Given the description of an element on the screen output the (x, y) to click on. 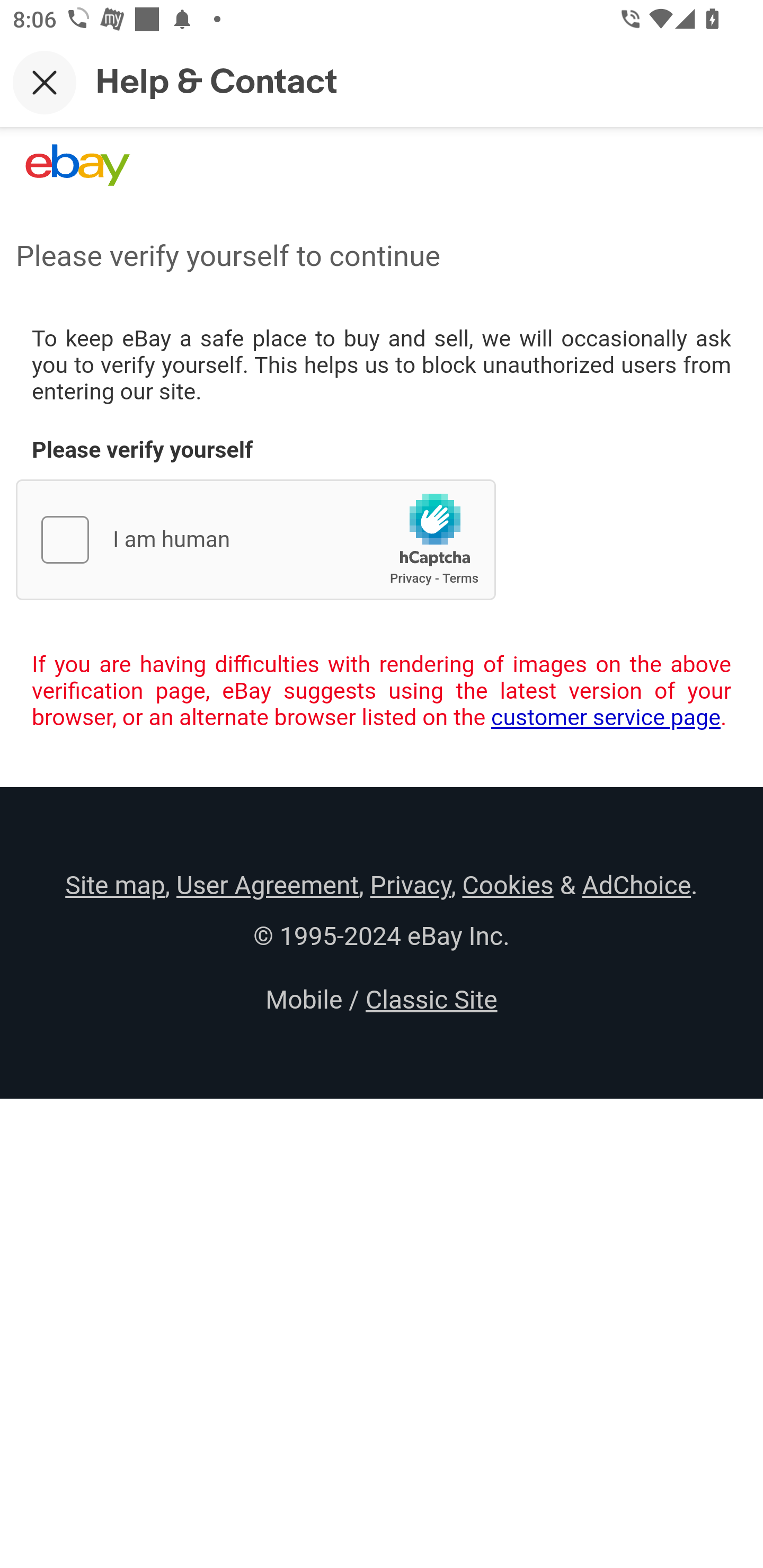
Close (44, 82)
eBay Home (77, 165)
hCaptcha Privacy Policy Privacy (410, 578)
hCaptcha Terms of Service Terms (459, 578)
customer service page (605, 717)
Site map (114, 884)
User Agreement (266, 884)
Privacy (409, 884)
Cookies (507, 884)
AdChoice (636, 884)
